Given the description of an element on the screen output the (x, y) to click on. 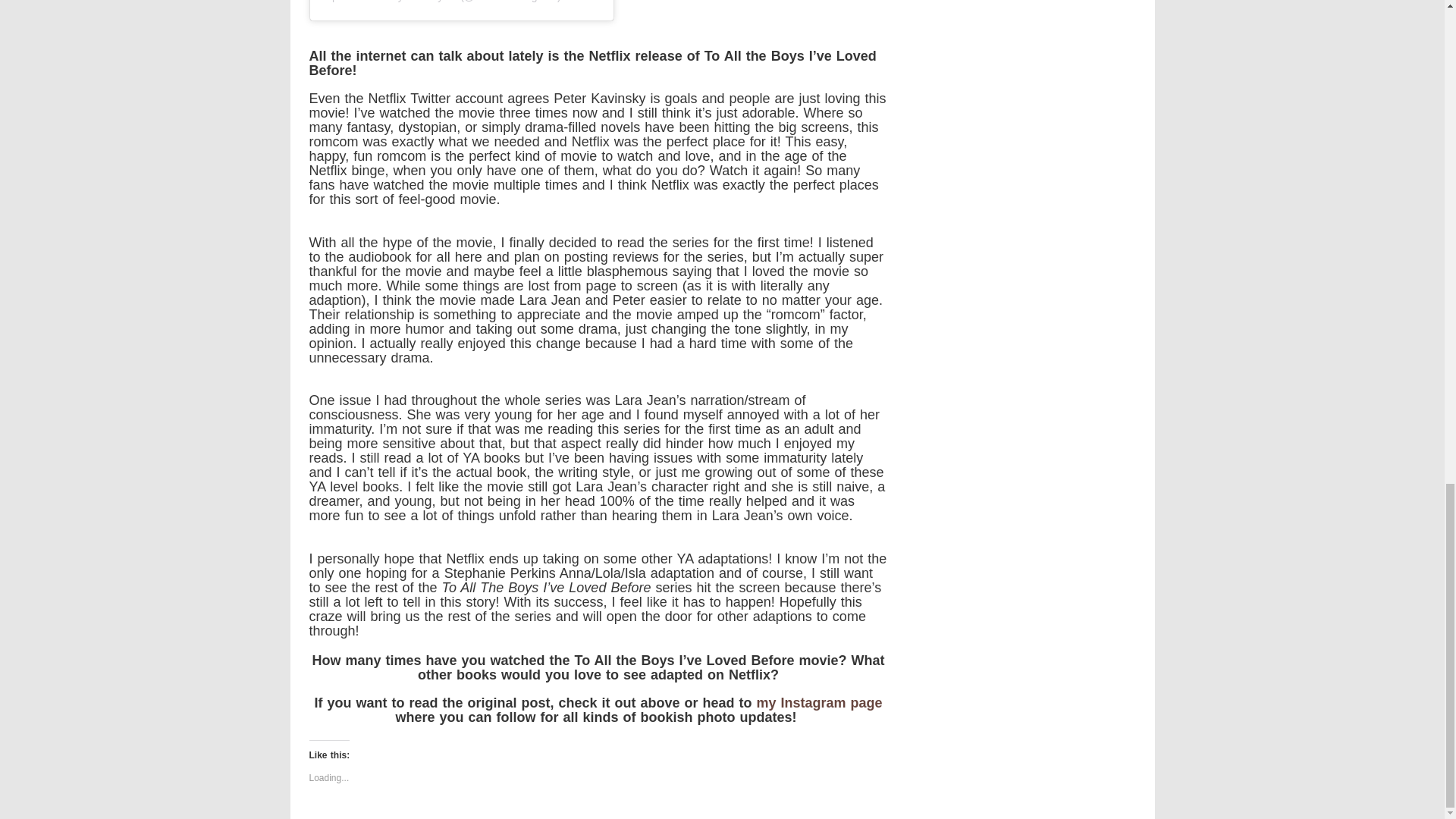
my Instagram page (819, 702)
